Given the description of an element on the screen output the (x, y) to click on. 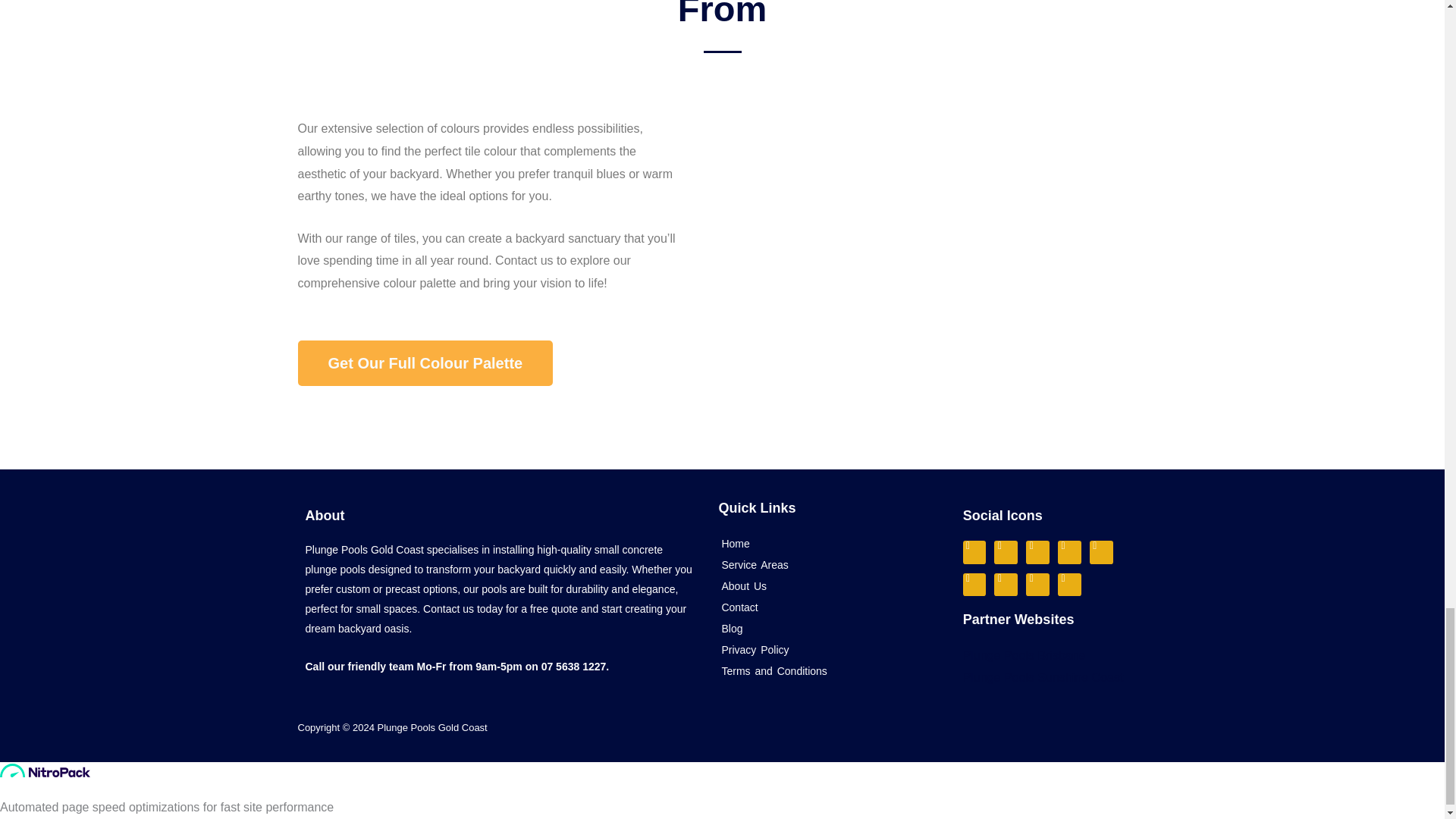
Privacy Policy (828, 649)
Contact (828, 607)
Get Our Full Colour Palette (425, 362)
Service Areas (828, 564)
Blog (828, 628)
About Us (828, 586)
Terms and Conditions (828, 670)
Home (828, 543)
